Given the description of an element on the screen output the (x, y) to click on. 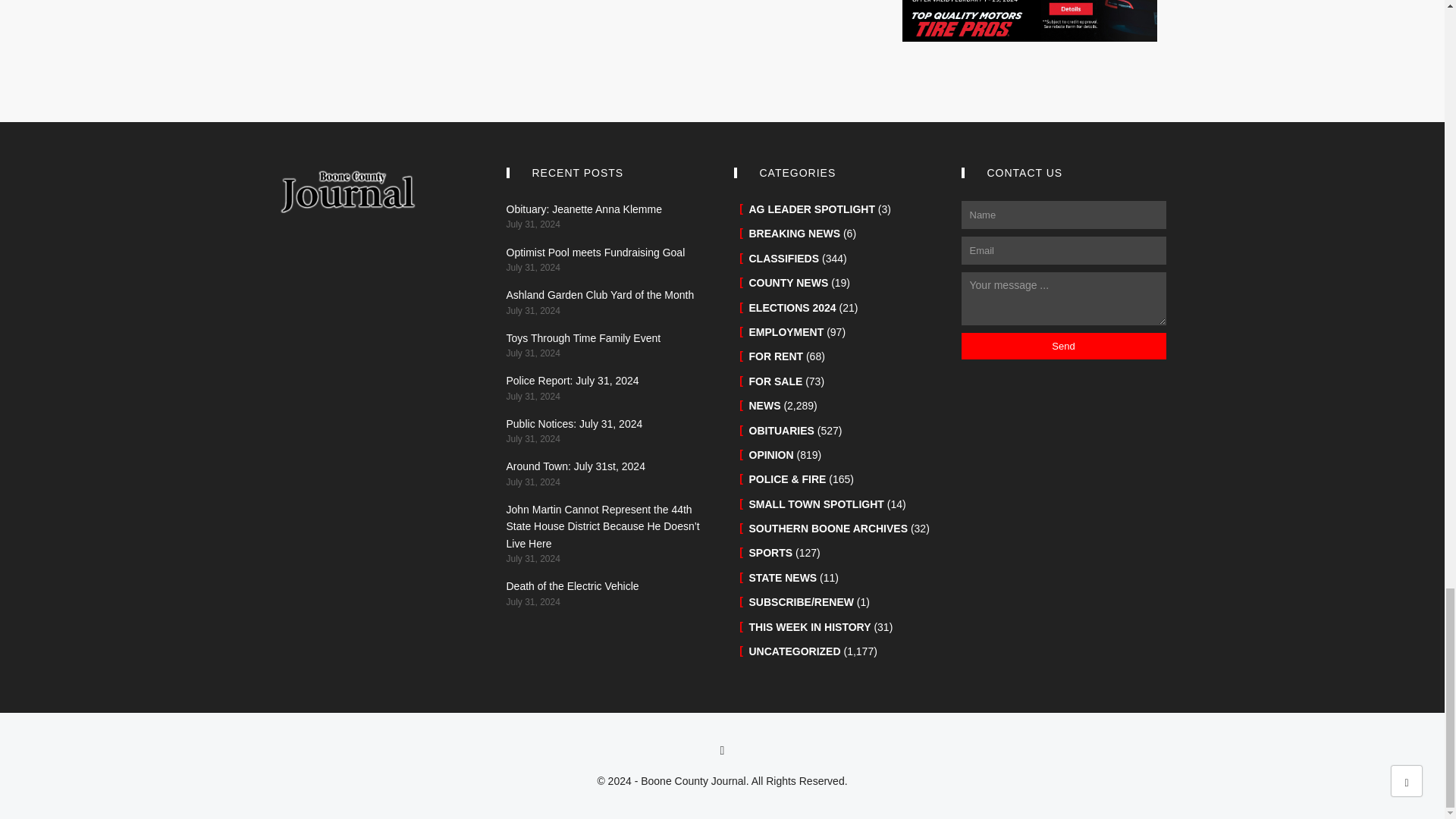
Send (1063, 345)
